Given the description of an element on the screen output the (x, y) to click on. 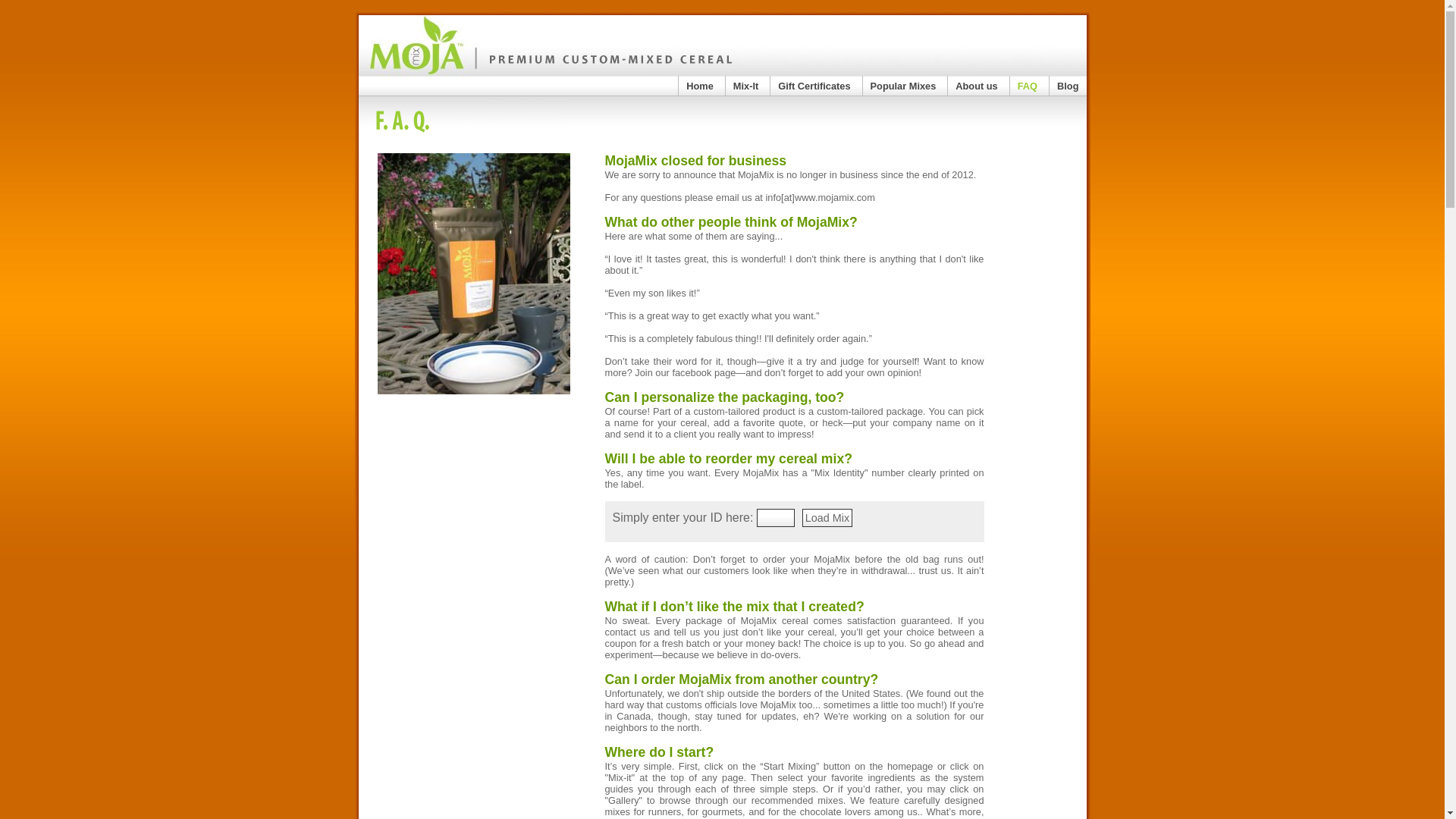
FAQ (1026, 86)
Blog (1067, 86)
Home (699, 86)
Load Mix (826, 517)
Load Mix (826, 517)
Gift Certificates (813, 86)
Mix-It (745, 86)
Popular Mixes (903, 86)
About us (976, 86)
